Given the description of an element on the screen output the (x, y) to click on. 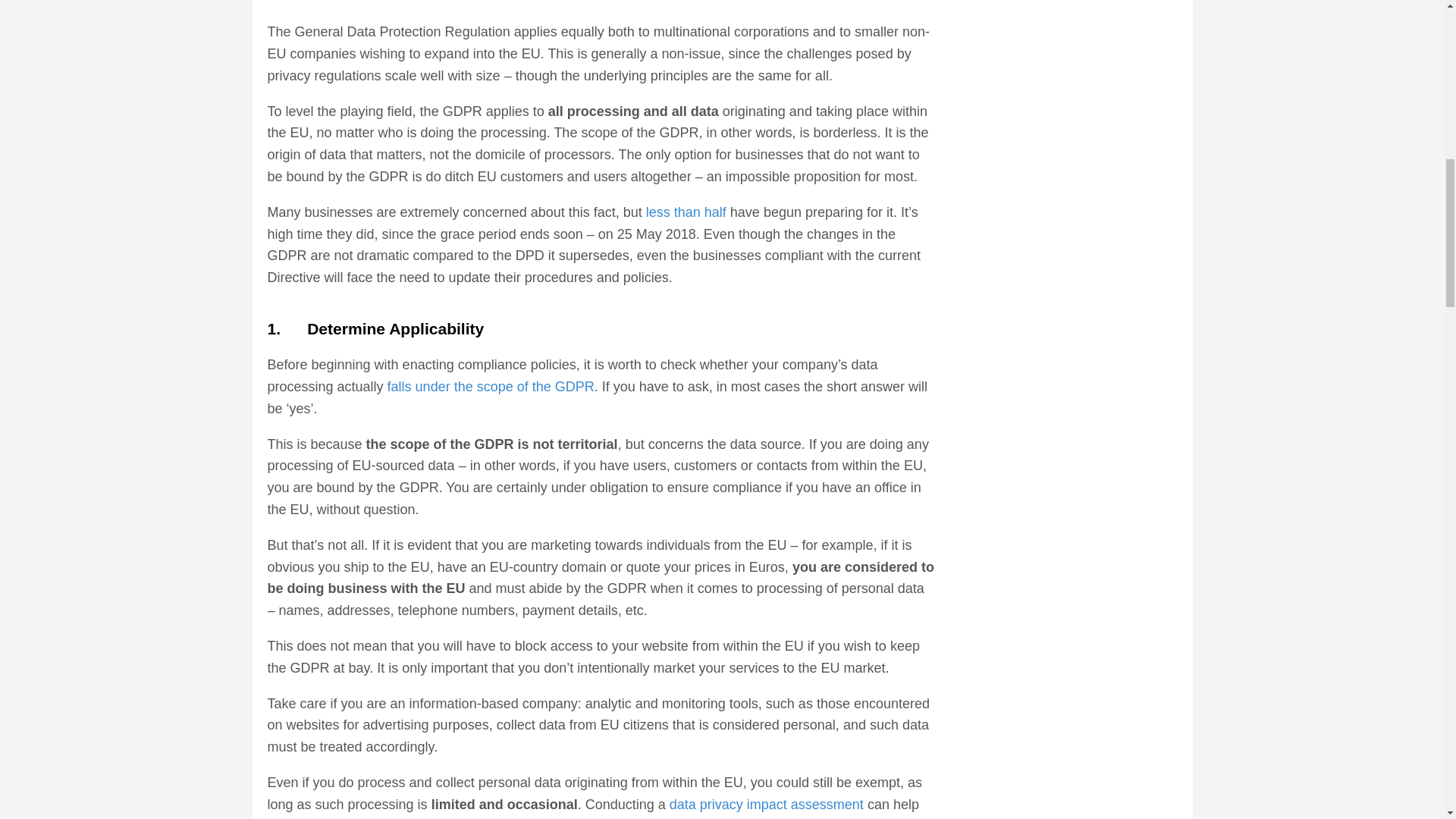
less than half (686, 212)
data privacy impact assessment (766, 804)
falls under the scope of the GDPR (490, 386)
